Given the description of an element on the screen output the (x, y) to click on. 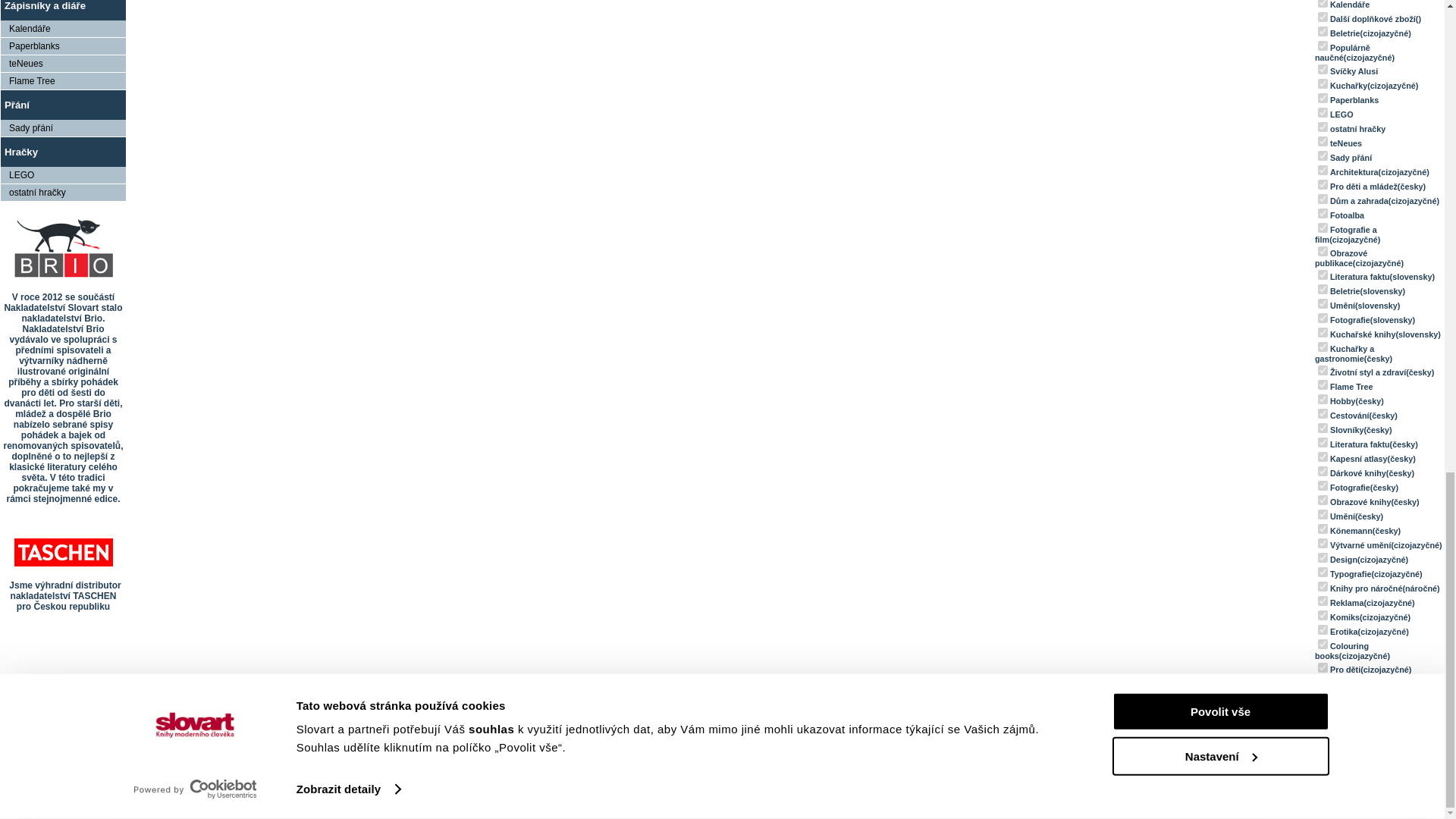
22806 (1322, 17)
14752 (1322, 45)
12305 (1322, 112)
13483 (1322, 69)
10036 (1322, 98)
15802 (1322, 3)
9799 (1322, 83)
13080 (1322, 126)
9820 (1322, 31)
